Given the description of an element on the screen output the (x, y) to click on. 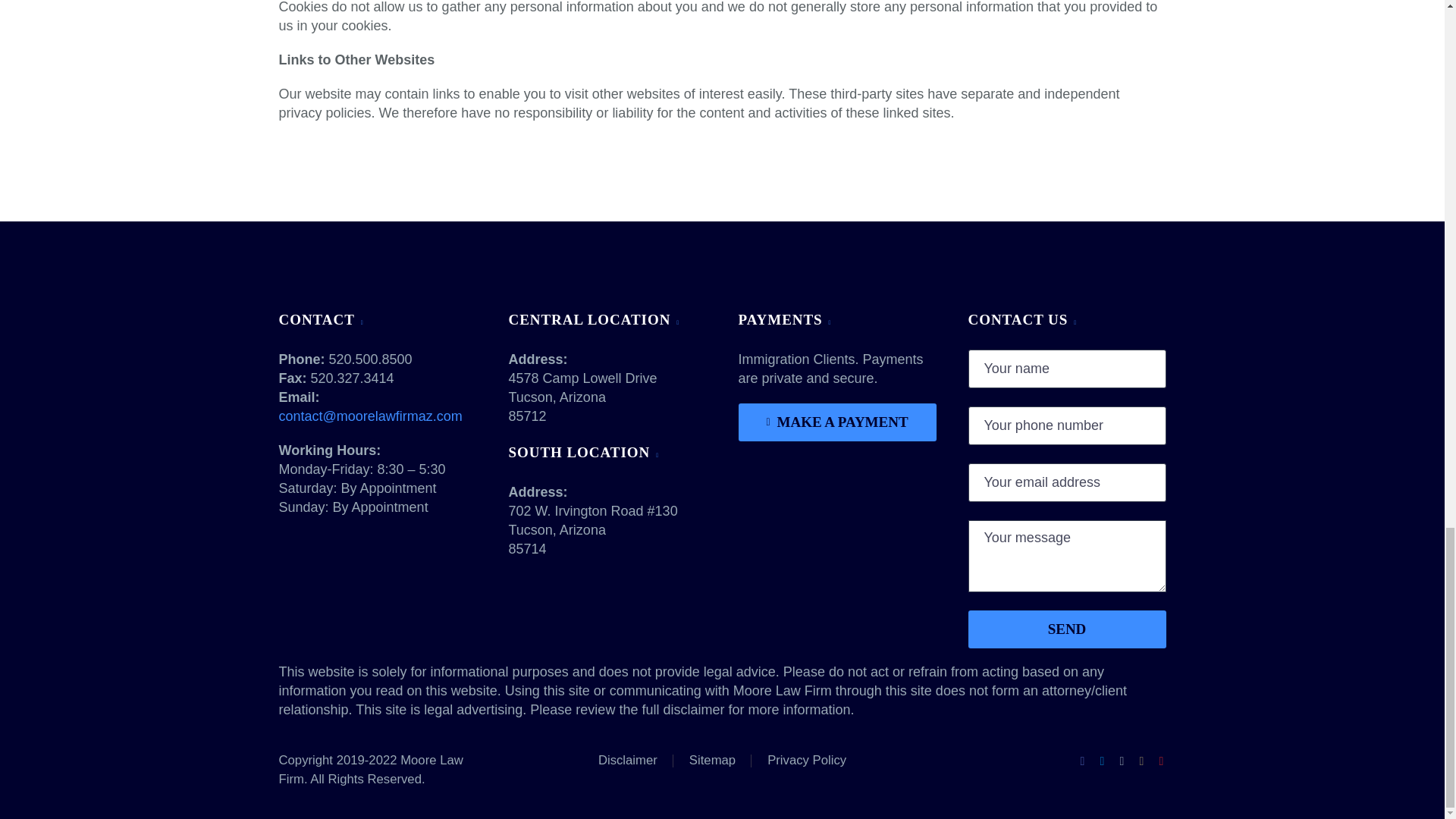
YouTube (1161, 761)
Twitter (1122, 761)
Facebook (1083, 761)
LinkedIn (1102, 761)
Instagram (1141, 761)
Send (1067, 629)
